Given the description of an element on the screen output the (x, y) to click on. 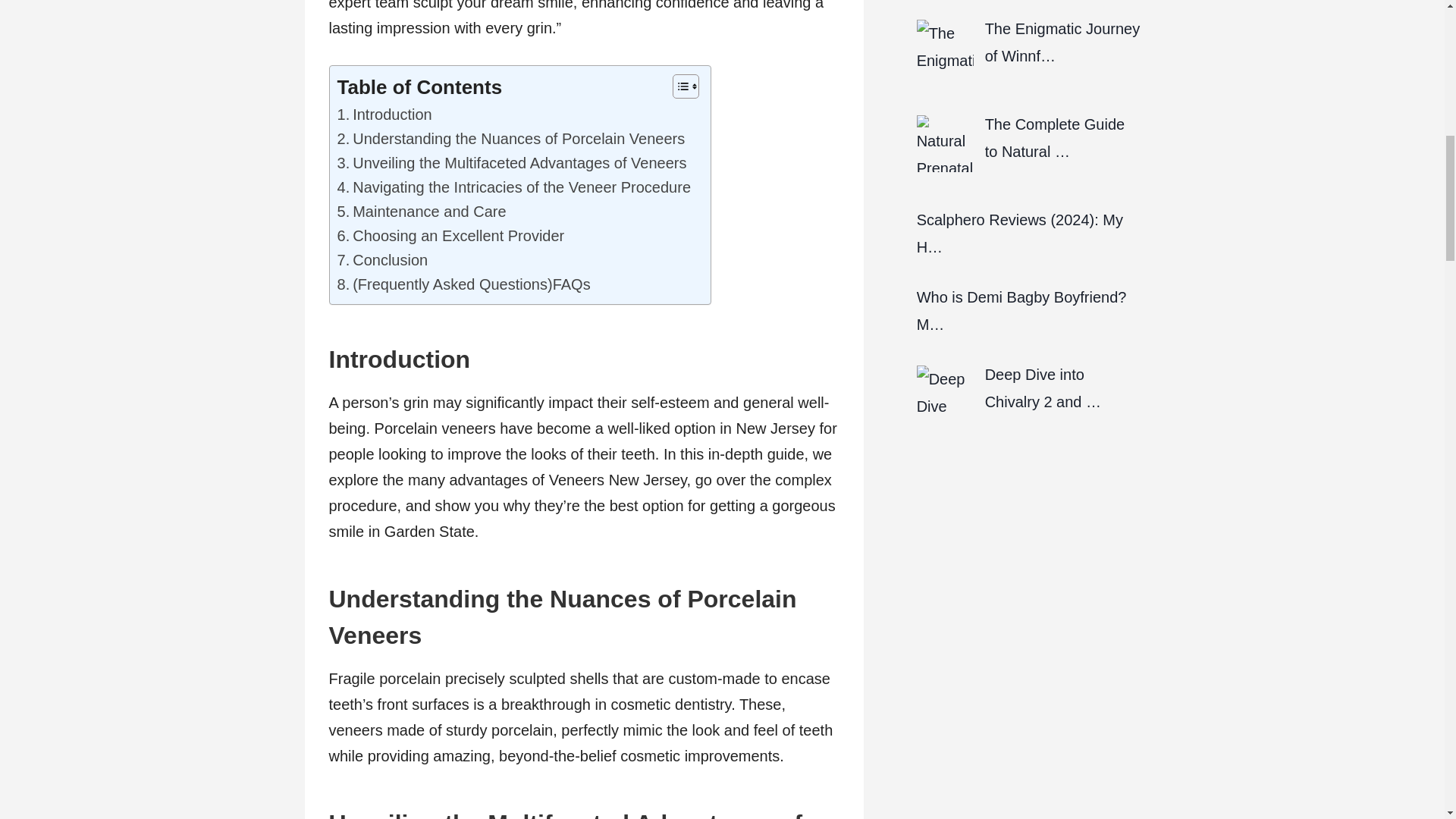
Understanding the Nuances of Porcelain Veneers (510, 138)
Maintenance and Care (420, 211)
Introduction (383, 114)
Choosing an Excellent Provider (450, 235)
Unveiling the Multifaceted Advantages of Veneers (510, 162)
Navigating the Intricacies of the Veneer Procedure (513, 187)
Conclusion (382, 259)
